Given the description of an element on the screen output the (x, y) to click on. 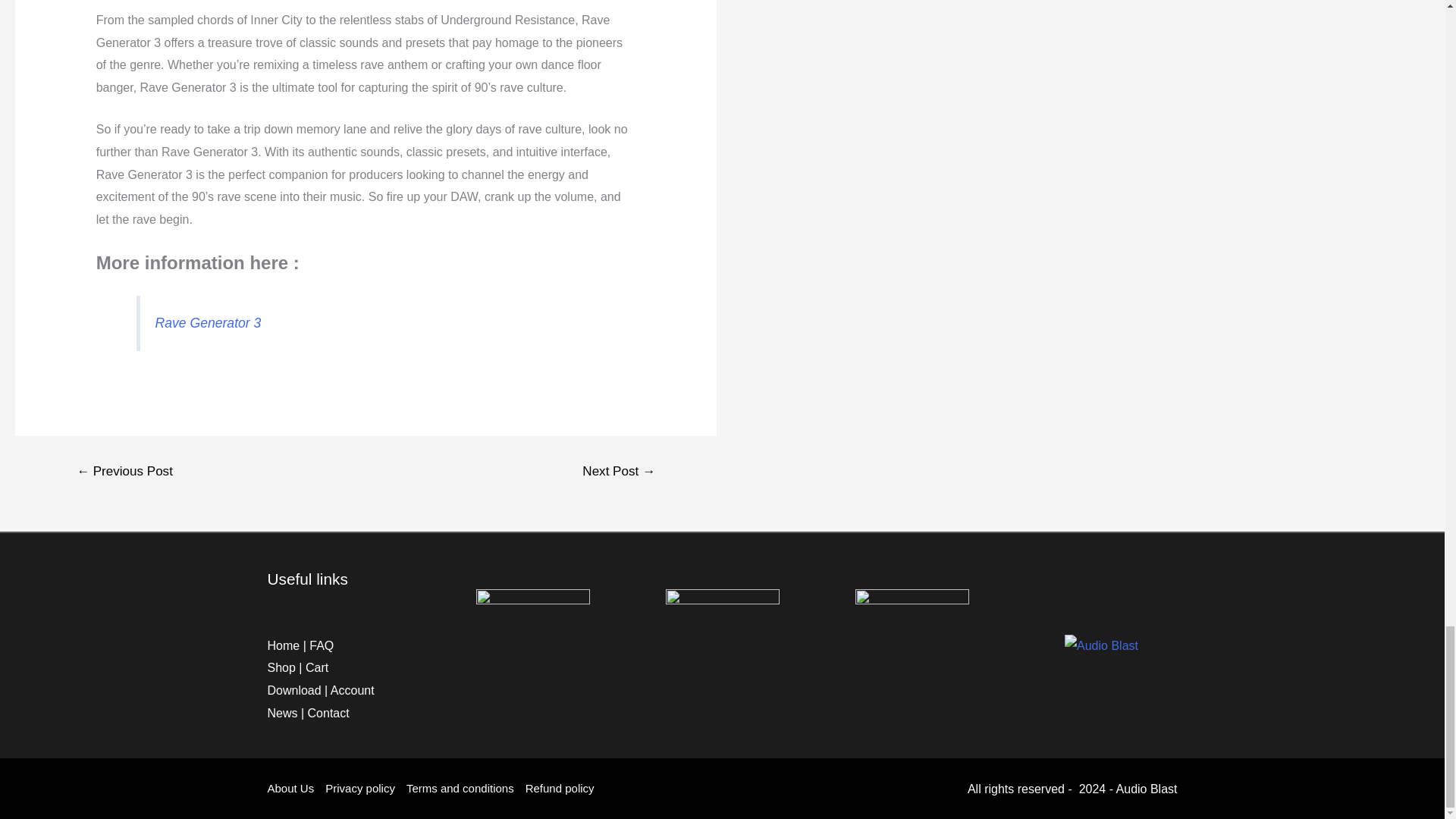
Download (293, 689)
FAQ (320, 645)
Cart (317, 667)
Home (282, 645)
Rave Generator 3 (208, 322)
Shop (280, 667)
